Given the description of an element on the screen output the (x, y) to click on. 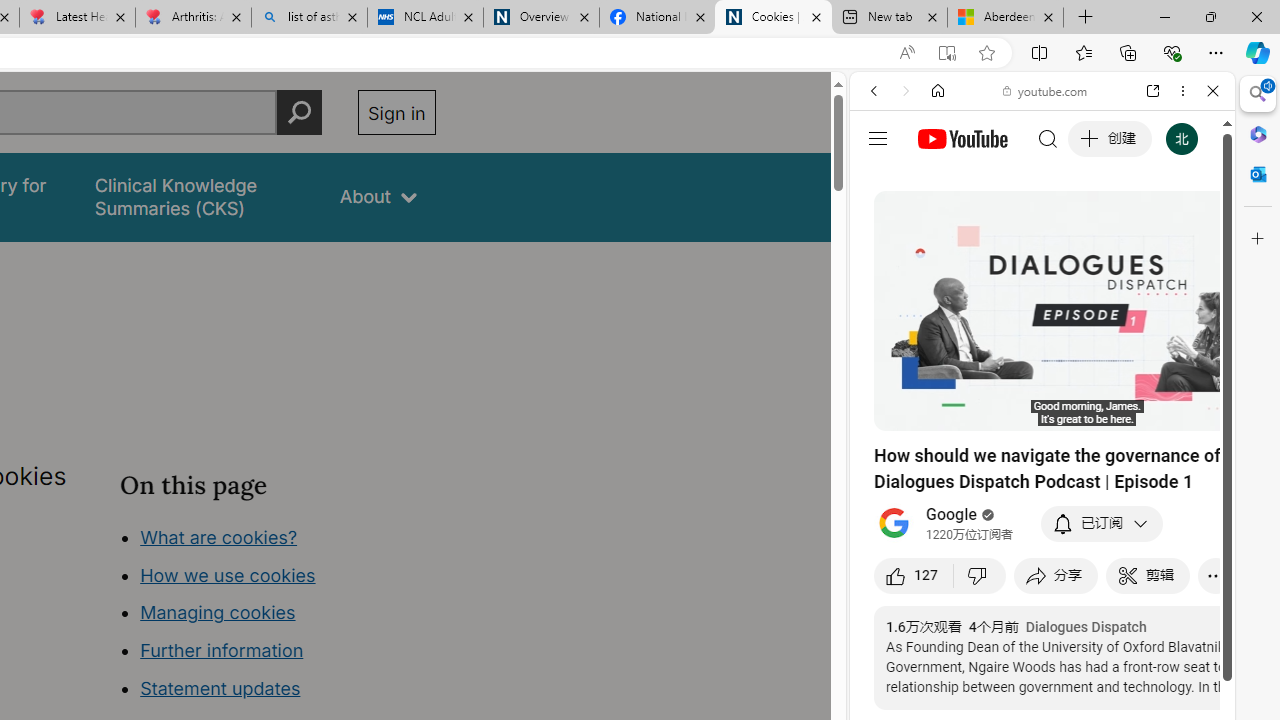
Search Filter, Search Tools (1093, 228)
Class: b_serphb (1190, 229)
Web scope (882, 180)
Further information (221, 650)
Trailer #2 [HD] (1042, 594)
How we use cookies (227, 574)
false (198, 196)
VIDEOS (1006, 228)
Search Filter, IMAGES (939, 228)
